Given the description of an element on the screen output the (x, y) to click on. 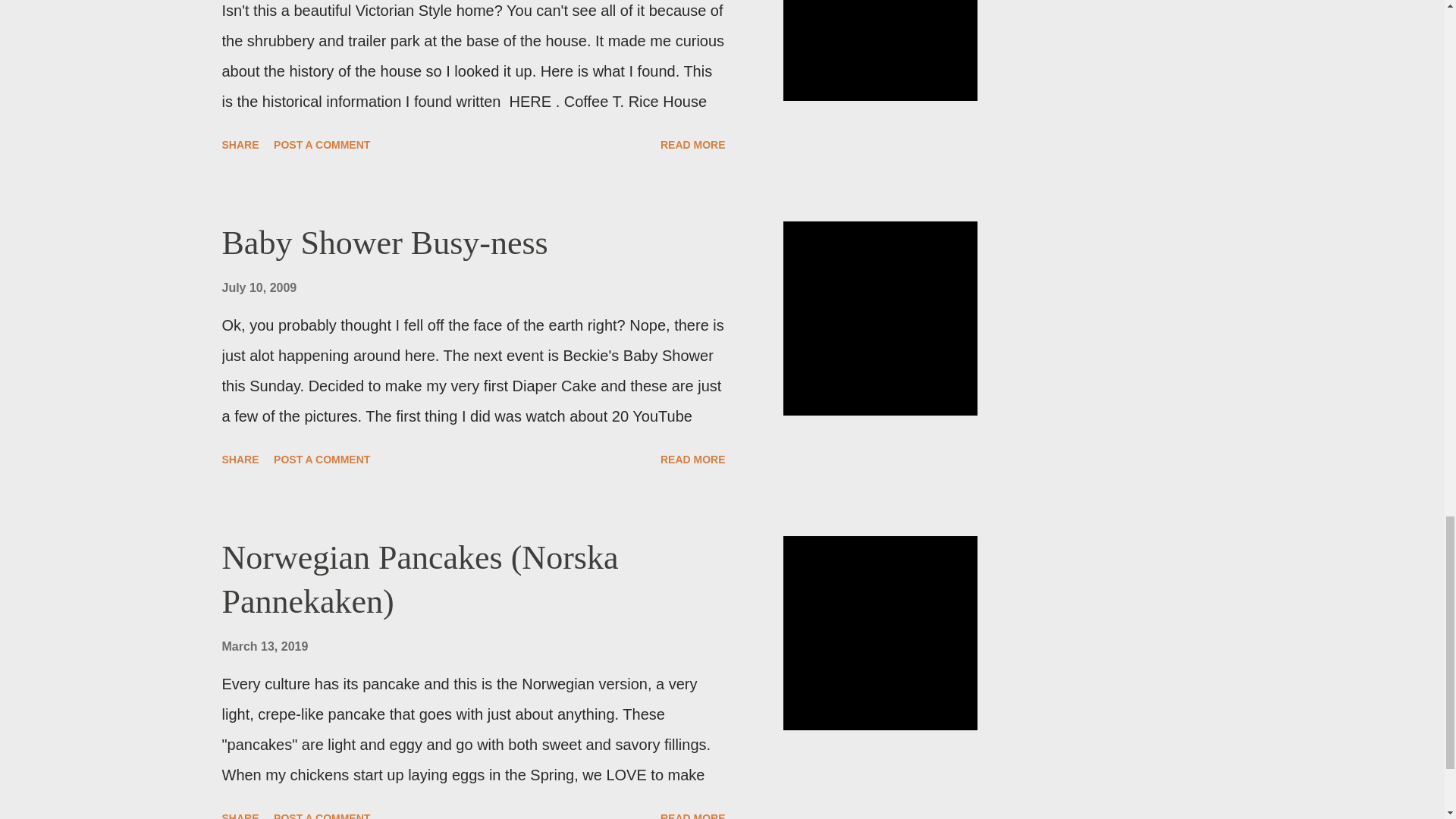
SHARE (239, 812)
POST A COMMENT (321, 459)
READ MORE (692, 812)
SHARE (239, 144)
POST A COMMENT (321, 812)
READ MORE (692, 459)
READ MORE (692, 144)
March 13, 2019 (264, 645)
Baby Shower Busy-ness (384, 242)
July 10, 2009 (259, 287)
SHARE (239, 459)
POST A COMMENT (321, 144)
